Given the description of an element on the screen output the (x, y) to click on. 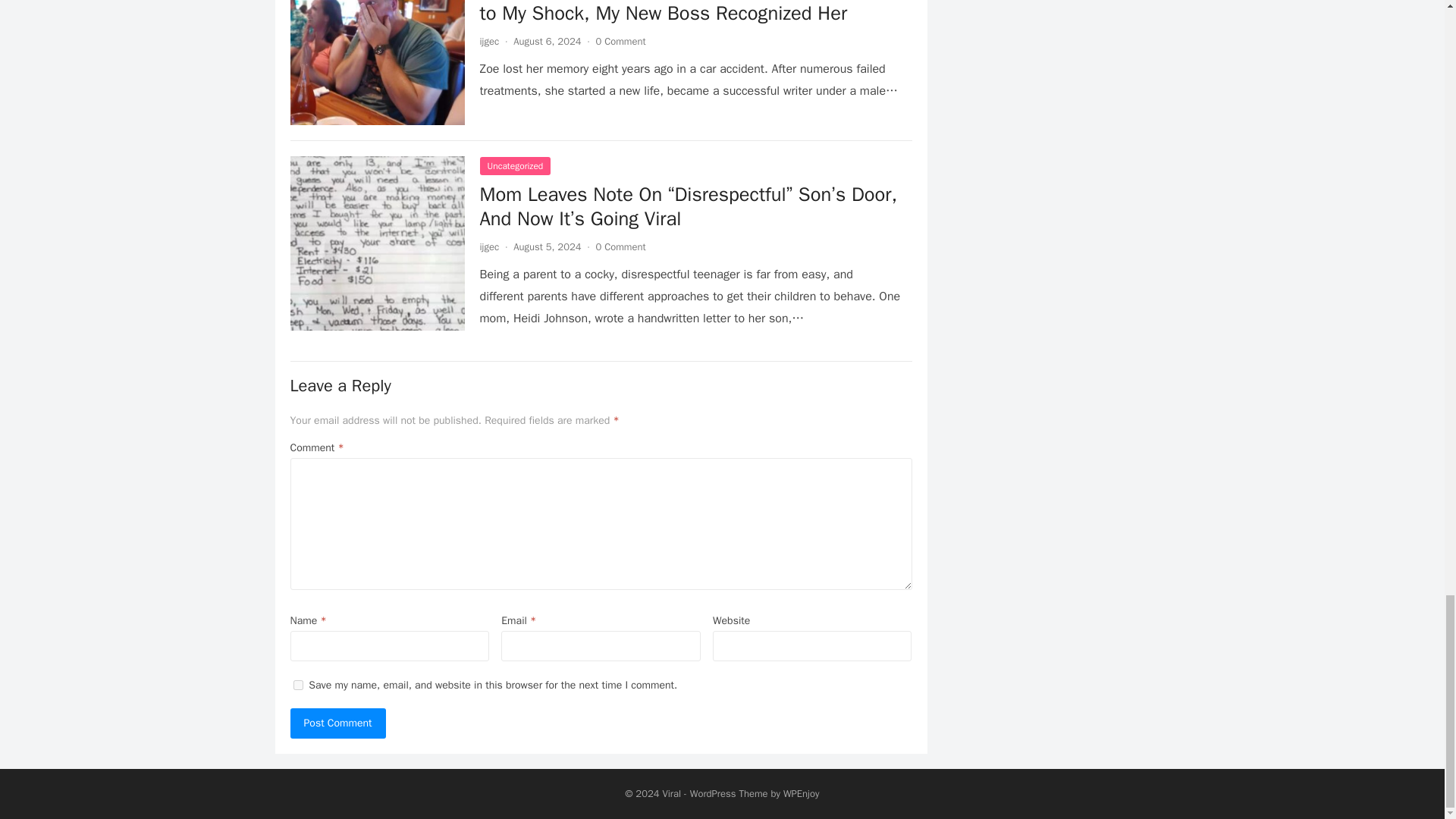
Posts by ijgec (489, 41)
0 Comment (620, 41)
ijgec (489, 41)
yes (297, 685)
Uncategorized (514, 166)
Post Comment (337, 723)
Posts by ijgec (489, 246)
